Given the description of an element on the screen output the (x, y) to click on. 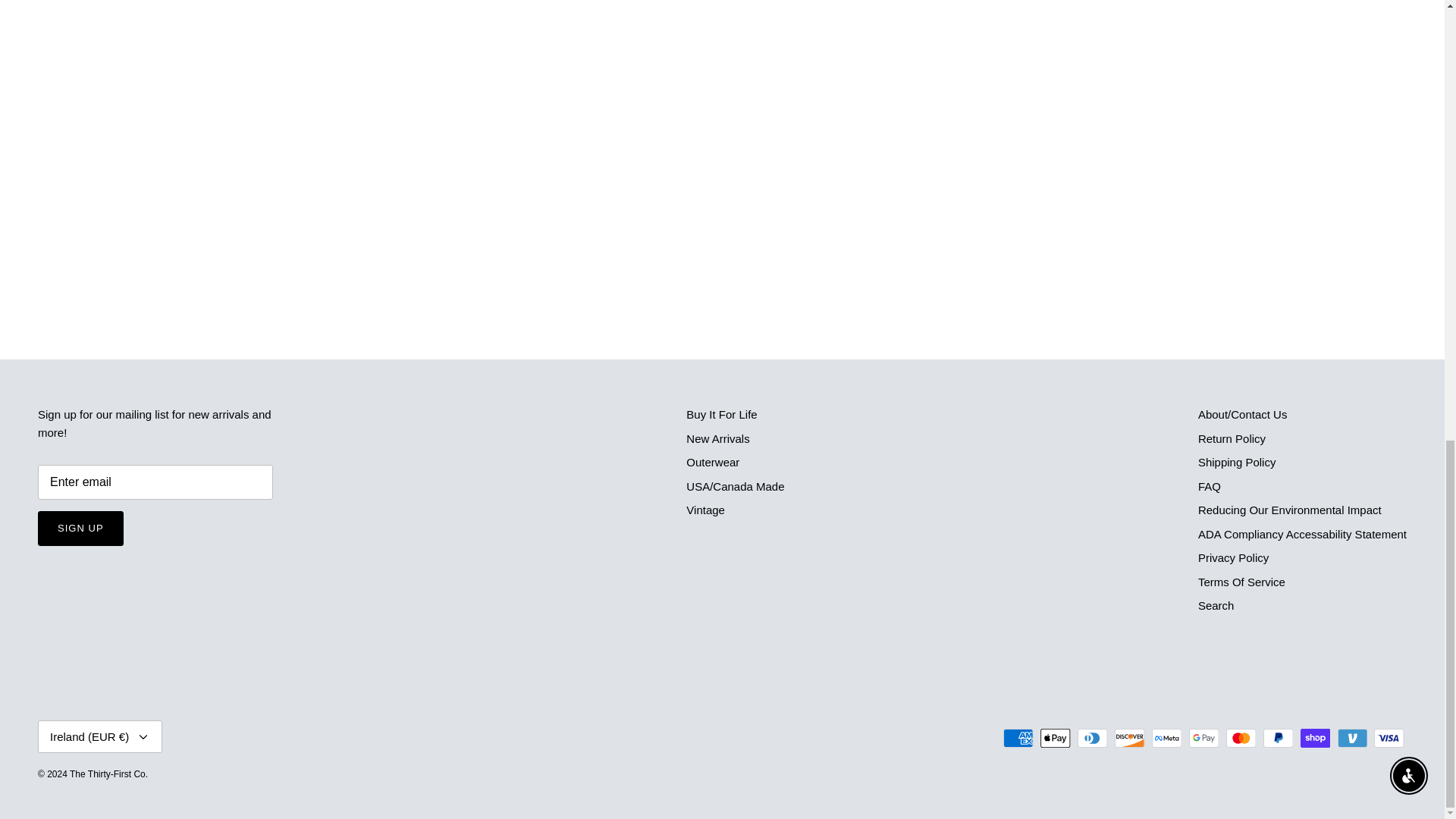
Meta Pay (1166, 737)
Diners Club (1092, 737)
Google Pay (1203, 737)
PayPal (1277, 737)
Discover (1129, 737)
Mastercard (1240, 737)
Shop Pay (1315, 737)
Venmo (1352, 737)
Apple Pay (1055, 737)
Visa (1388, 737)
American Express (1018, 737)
Down (142, 736)
